Given the description of an element on the screen output the (x, y) to click on. 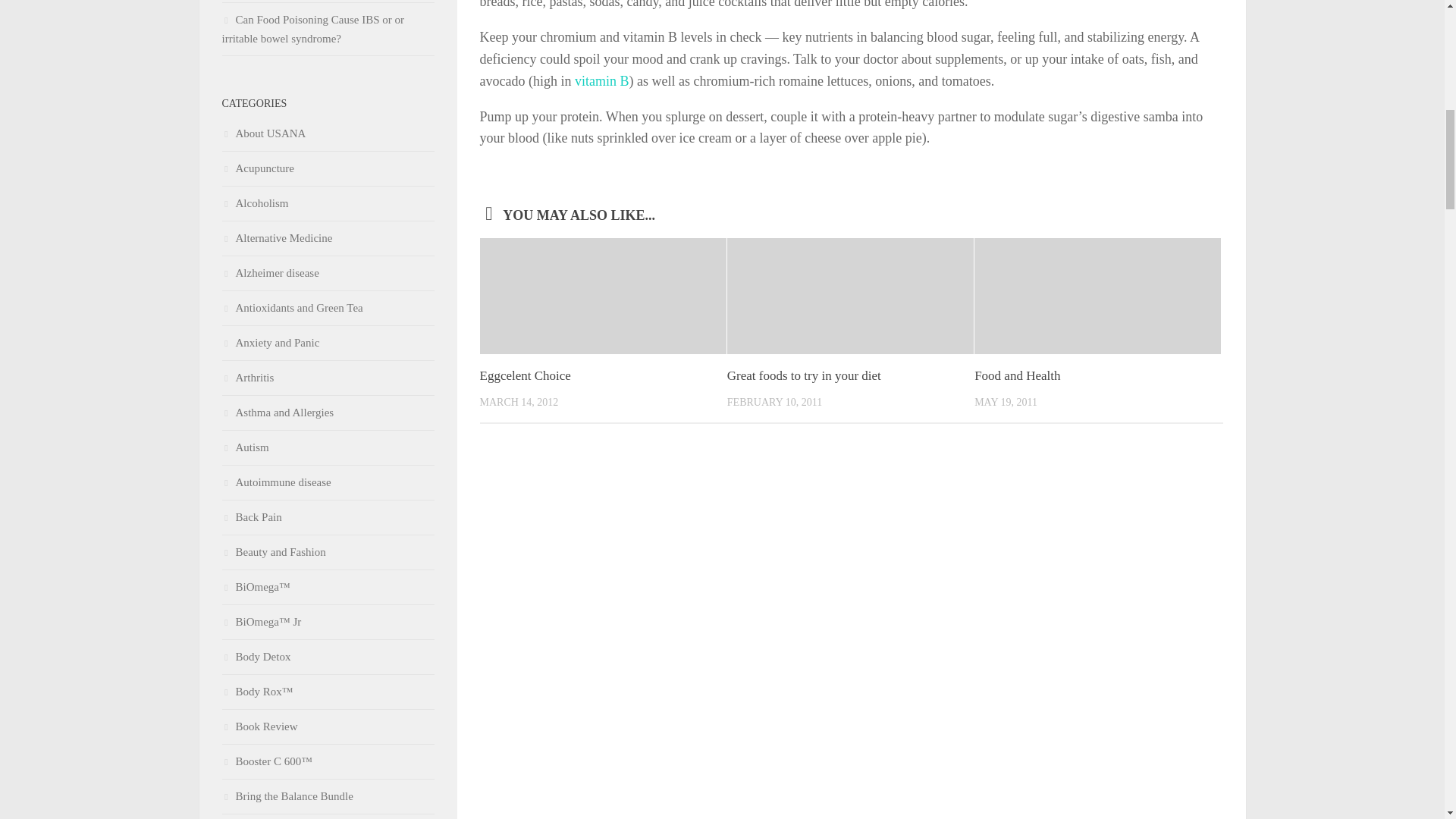
Great foods to try in your diet (803, 375)
Food and Health (1016, 375)
About USANA company (263, 133)
Permalink to Great foods to try in your diet (803, 375)
Permalink to Food and Health (1016, 375)
Permalink to Eggcelent Choice (524, 375)
Eggcelent Choice (524, 375)
vitamin B (601, 80)
